Given the description of an element on the screen output the (x, y) to click on. 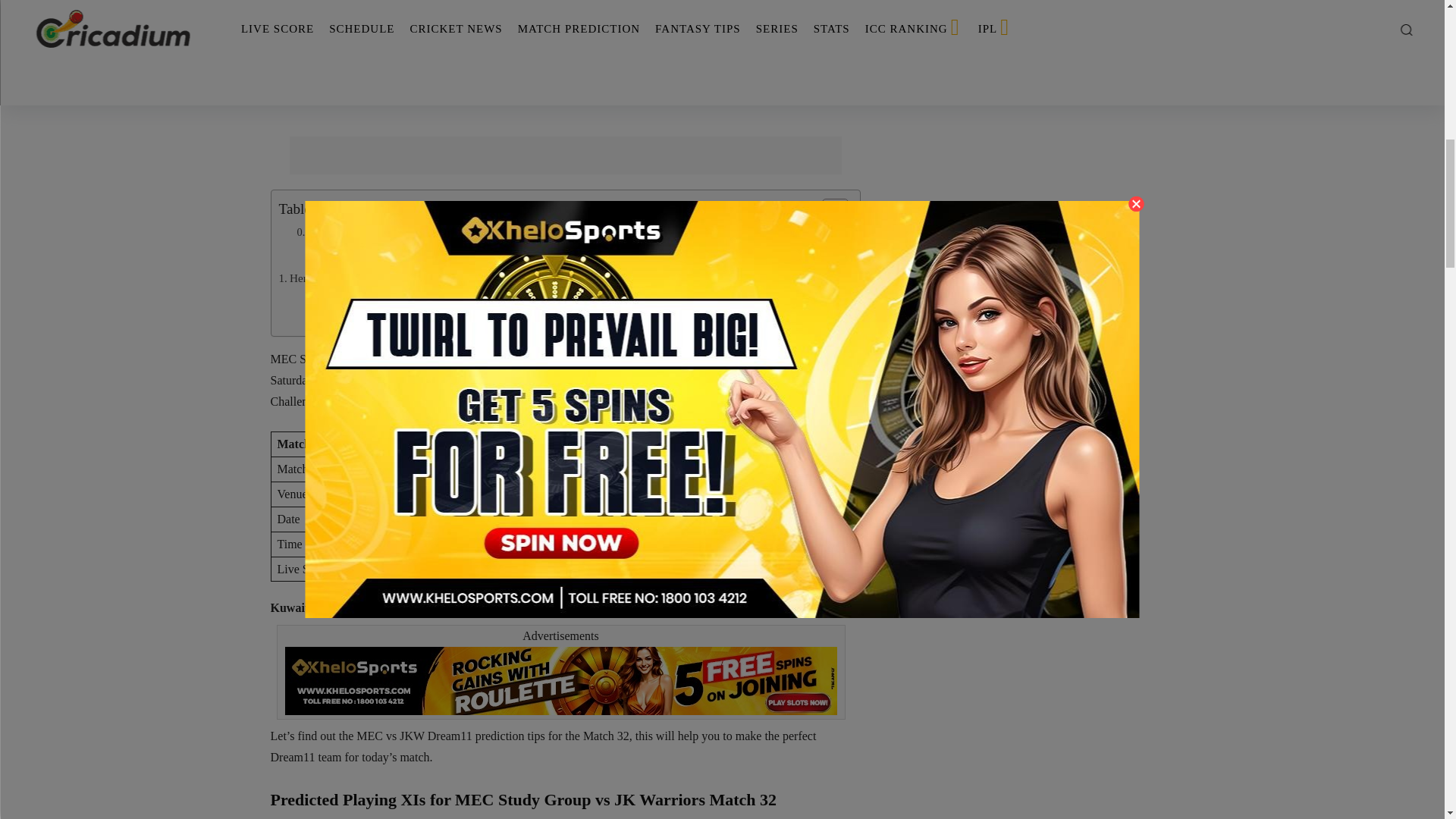
Here is the Best Dream11 Team for Today MEC vs JKW (415, 278)
